Given the description of an element on the screen output the (x, y) to click on. 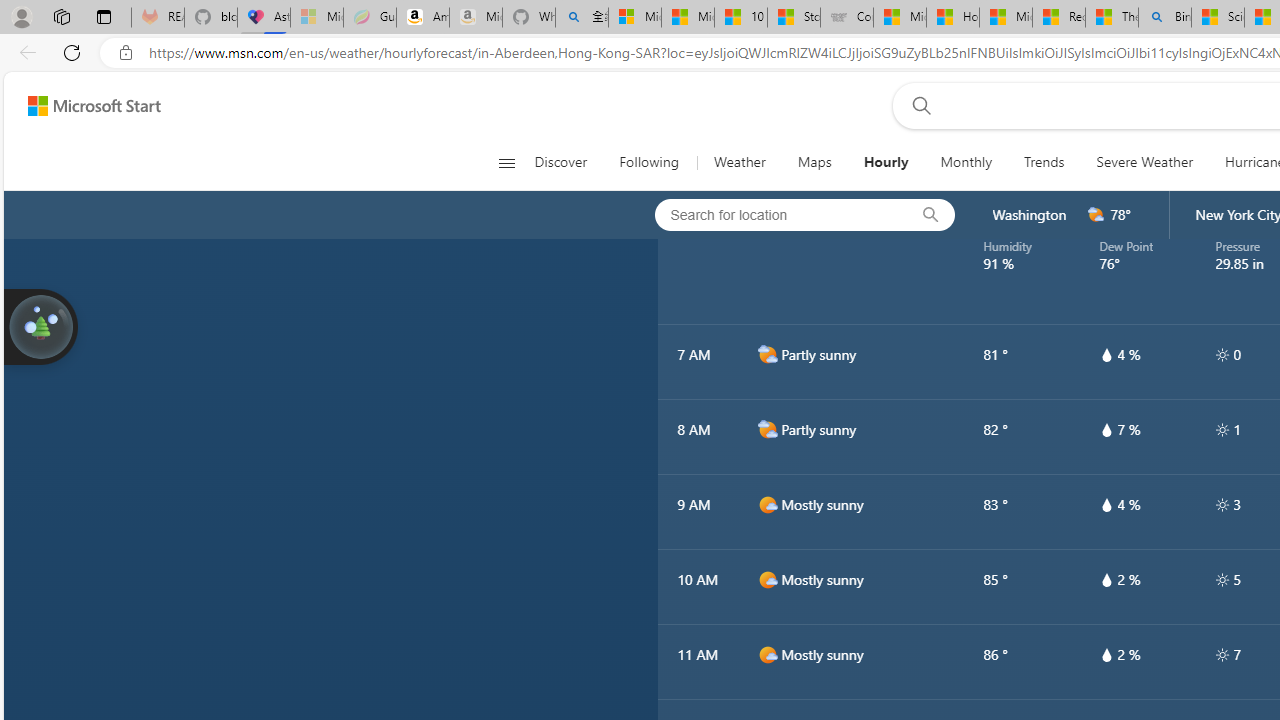
Search for location (775, 214)
Hourly (886, 162)
locationBar/search (930, 215)
Severe Weather (1144, 162)
Recipes - MSN (1059, 17)
Weather (739, 162)
Maps (813, 162)
Join us in planting real trees to help our planet! (40, 327)
